Given the description of an element on the screen output the (x, y) to click on. 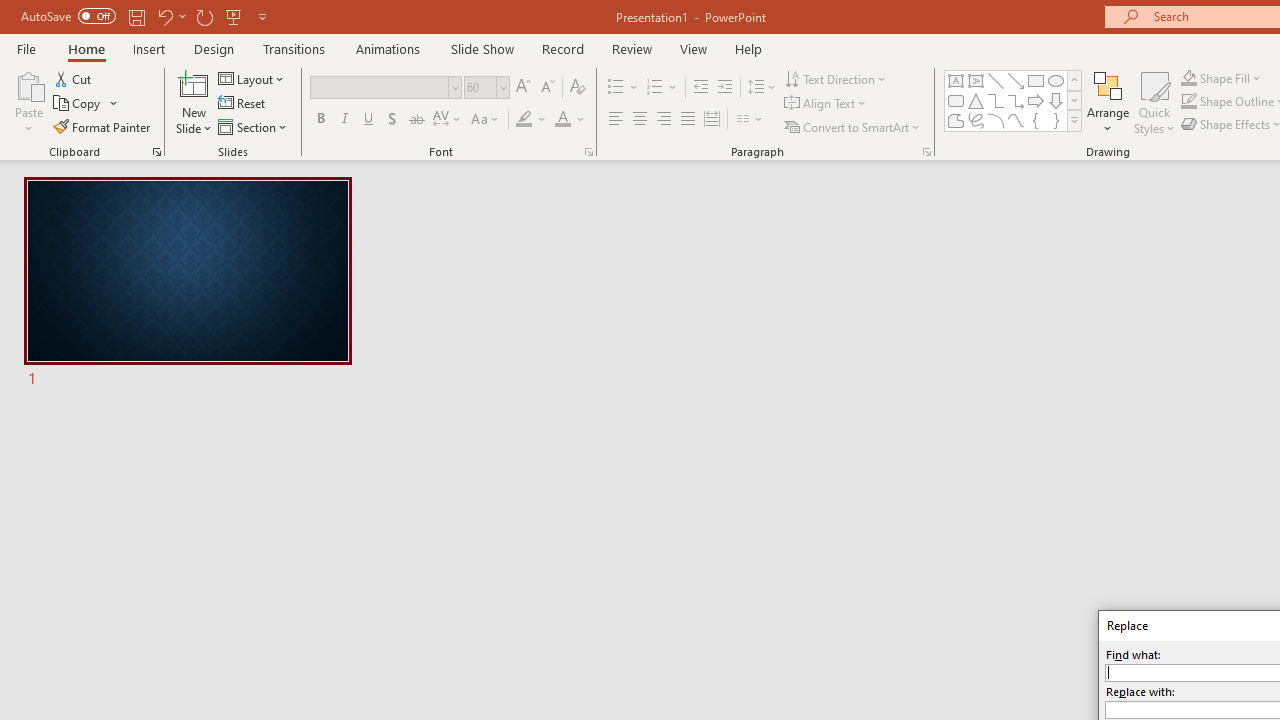
Strikethrough (416, 119)
Cut (73, 78)
Change Case (486, 119)
Decrease Indent (700, 87)
Arc (995, 120)
Align Left (616, 119)
Shape Fill Orange, Accent 2 (1188, 78)
Connector: Elbow (995, 100)
Curve (1016, 120)
